Given the description of an element on the screen output the (x, y) to click on. 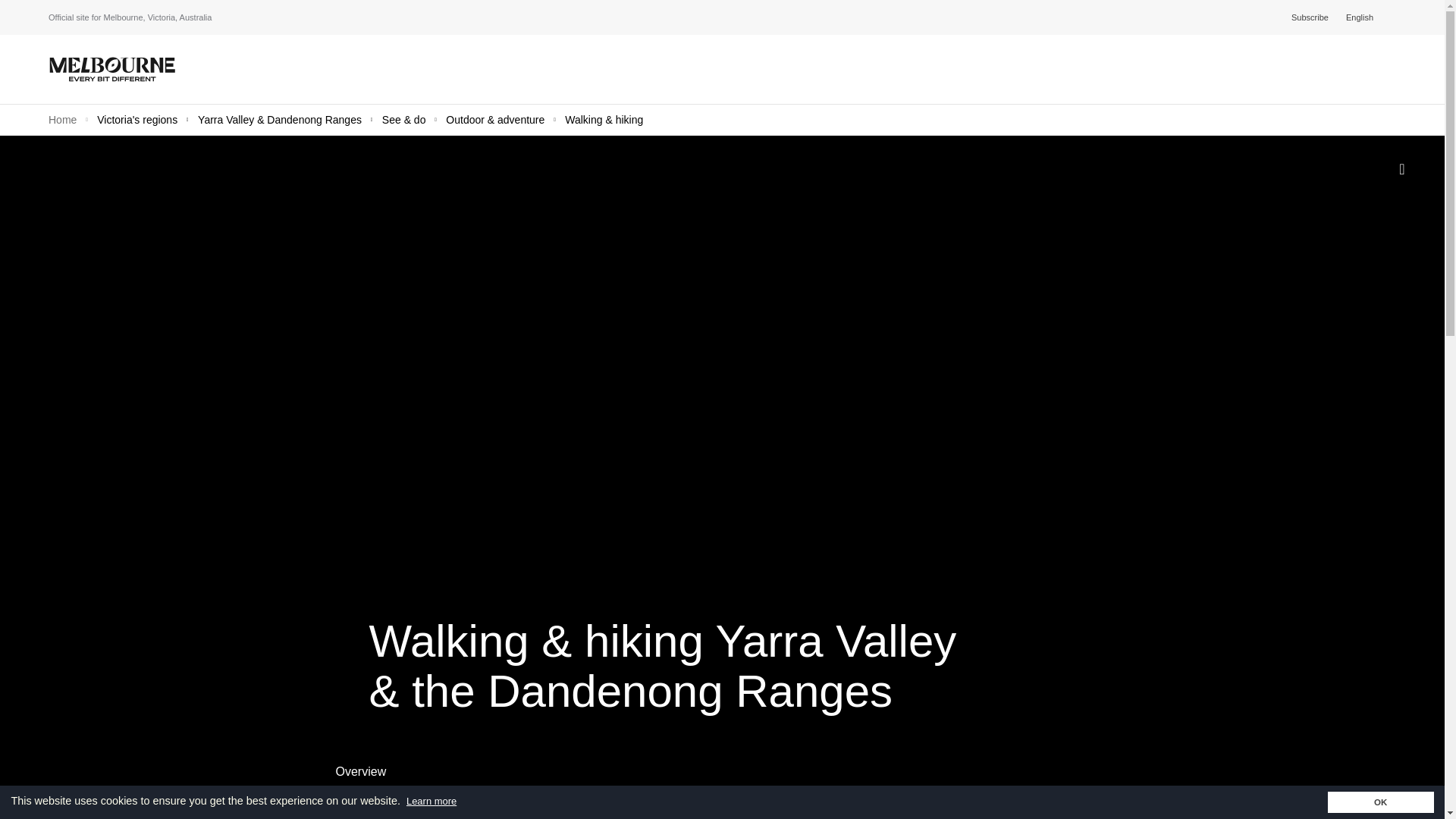
Overview (365, 771)
Subscribe (1311, 17)
Victoria's regions (138, 119)
Home (64, 119)
English (1363, 17)
